Given the description of an element on the screen output the (x, y) to click on. 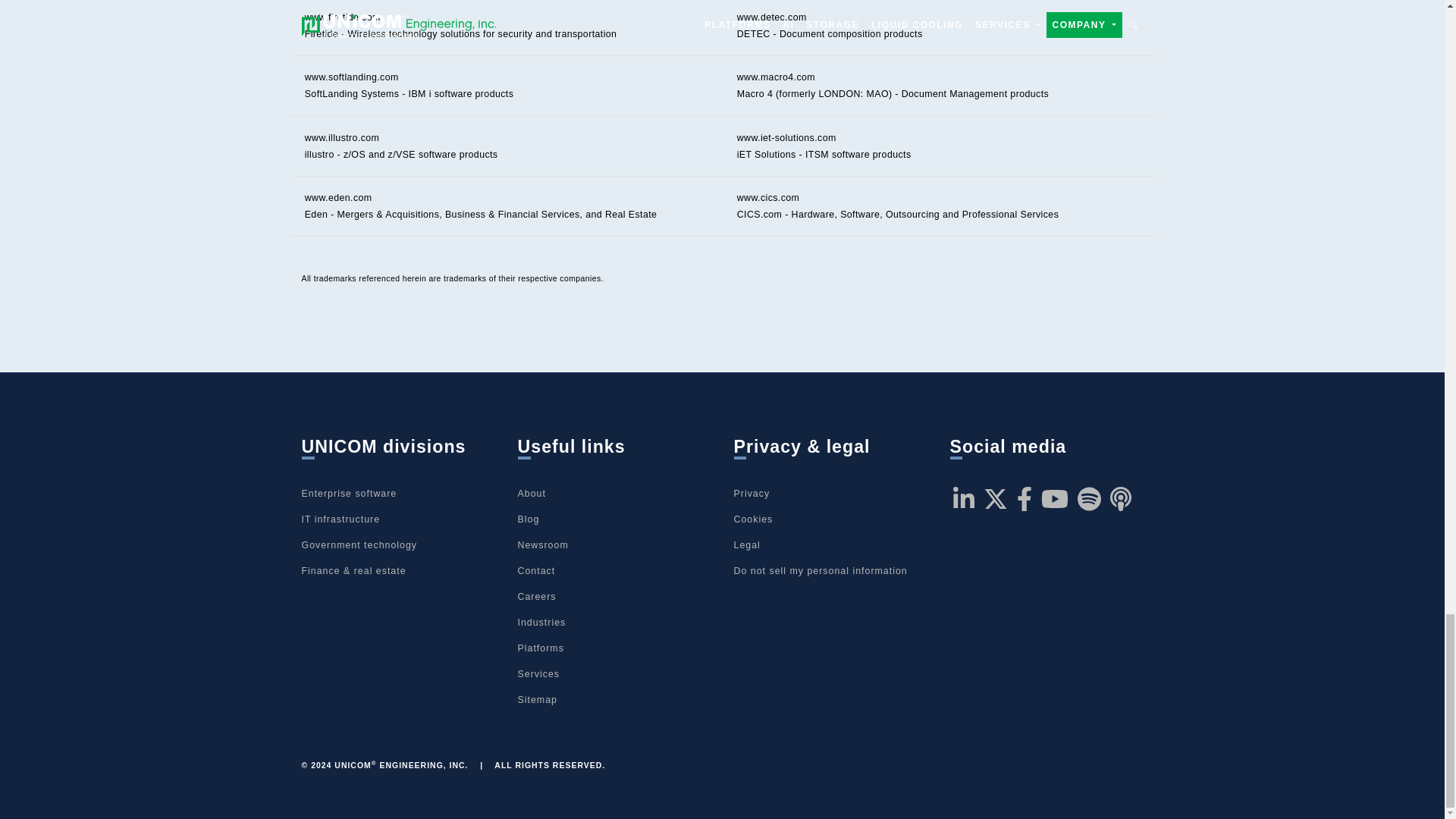
About (530, 493)
Newsroom (541, 544)
www.macro4.com (775, 77)
Government technology (359, 544)
IT infrastructure (340, 519)
Enterprise software (349, 493)
www.illustro.com (342, 137)
www.cics.com (767, 197)
www.softlanding.com (351, 77)
Blog (527, 519)
www.detec.com (771, 17)
www.eden.com (338, 197)
www.iet-solutions.com (785, 137)
Careers (536, 596)
www.firetide.com (342, 17)
